Given the description of an element on the screen output the (x, y) to click on. 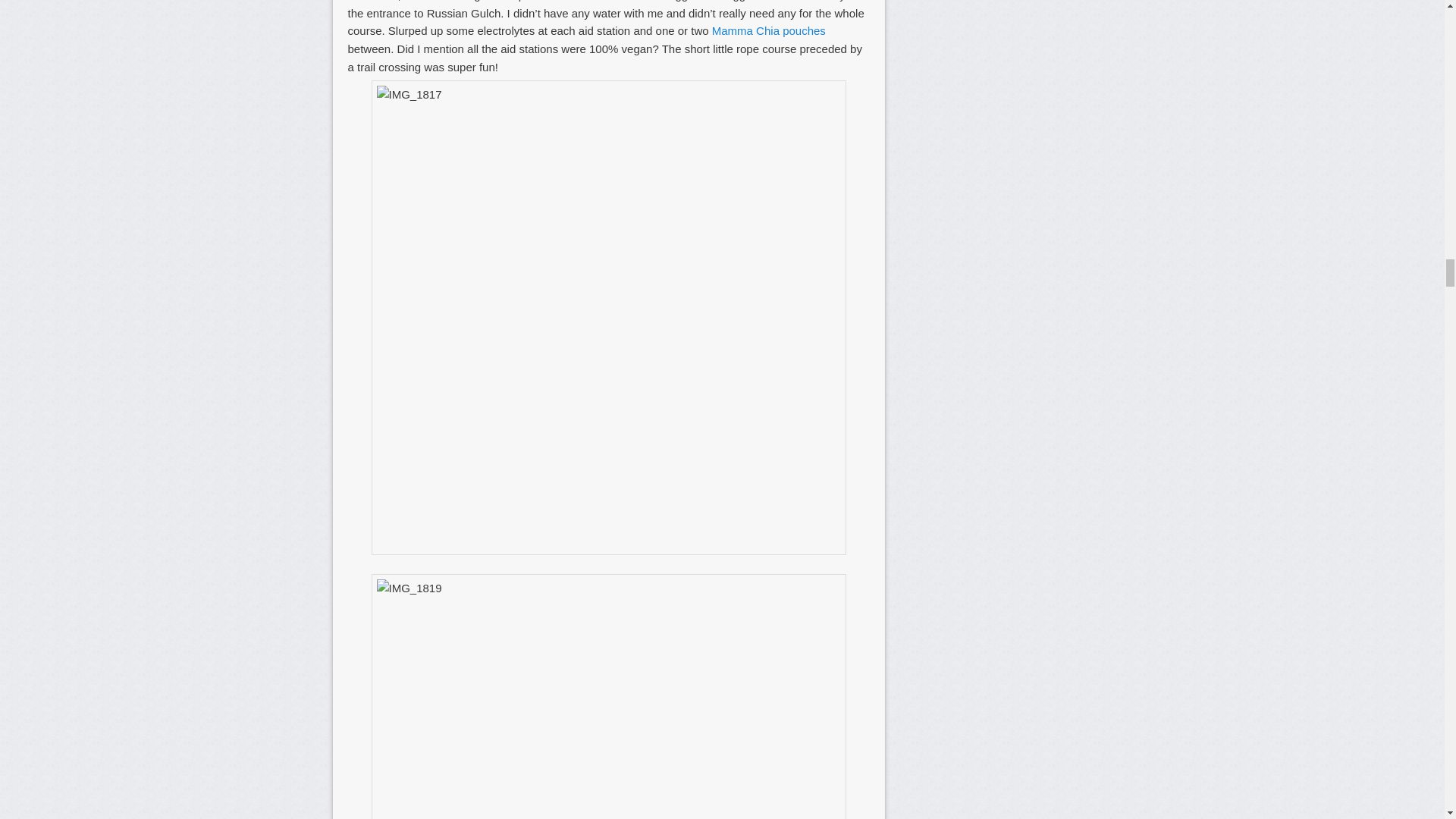
Mamma Chia pouches (768, 30)
